Given the description of an element on the screen output the (x, y) to click on. 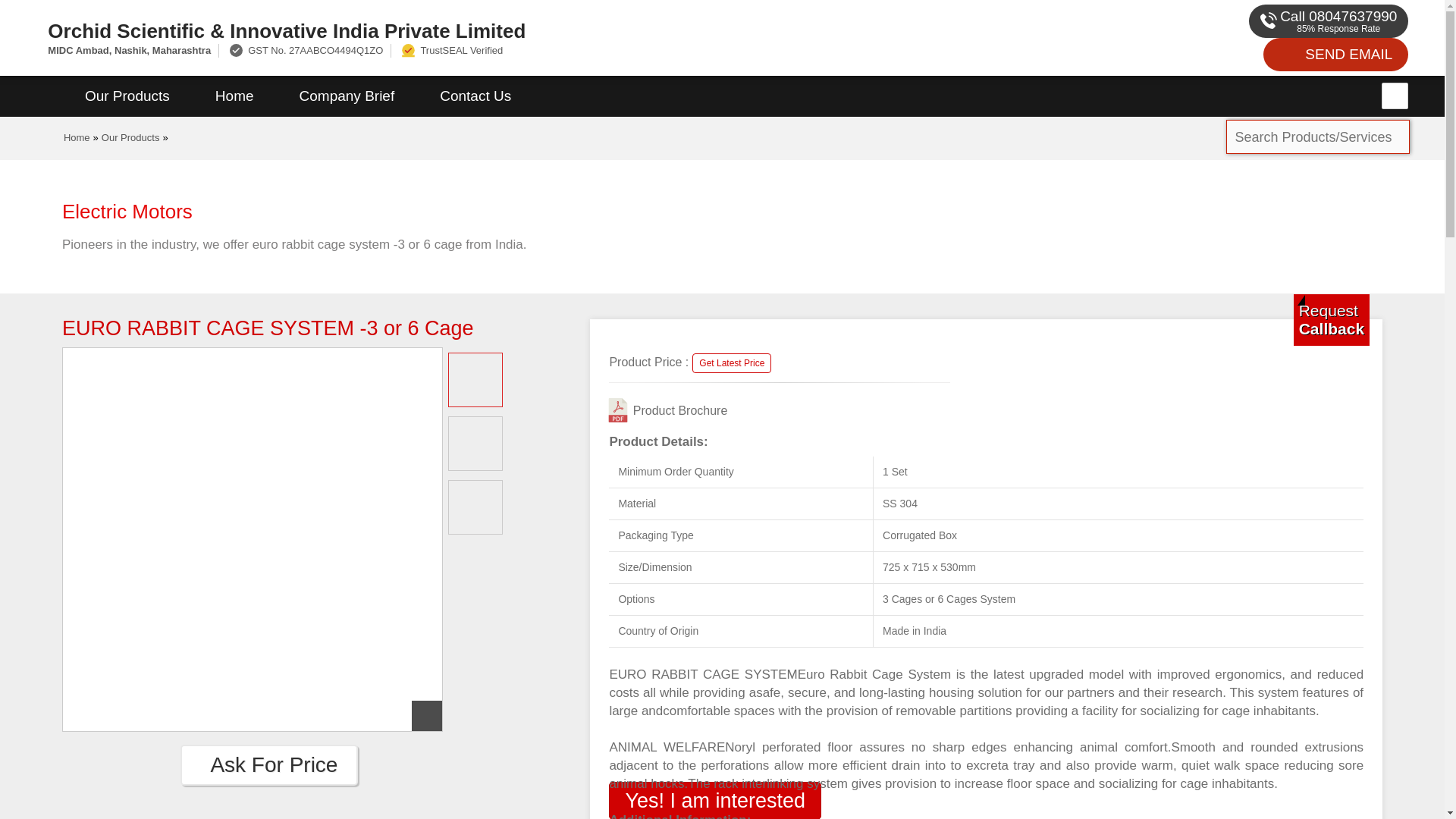
Company Brief (346, 96)
Our Products (127, 96)
Our Products (130, 137)
Contact Us (475, 96)
Home (234, 96)
Get a Call from us (1332, 319)
Home (77, 137)
